Given the description of an element on the screen output the (x, y) to click on. 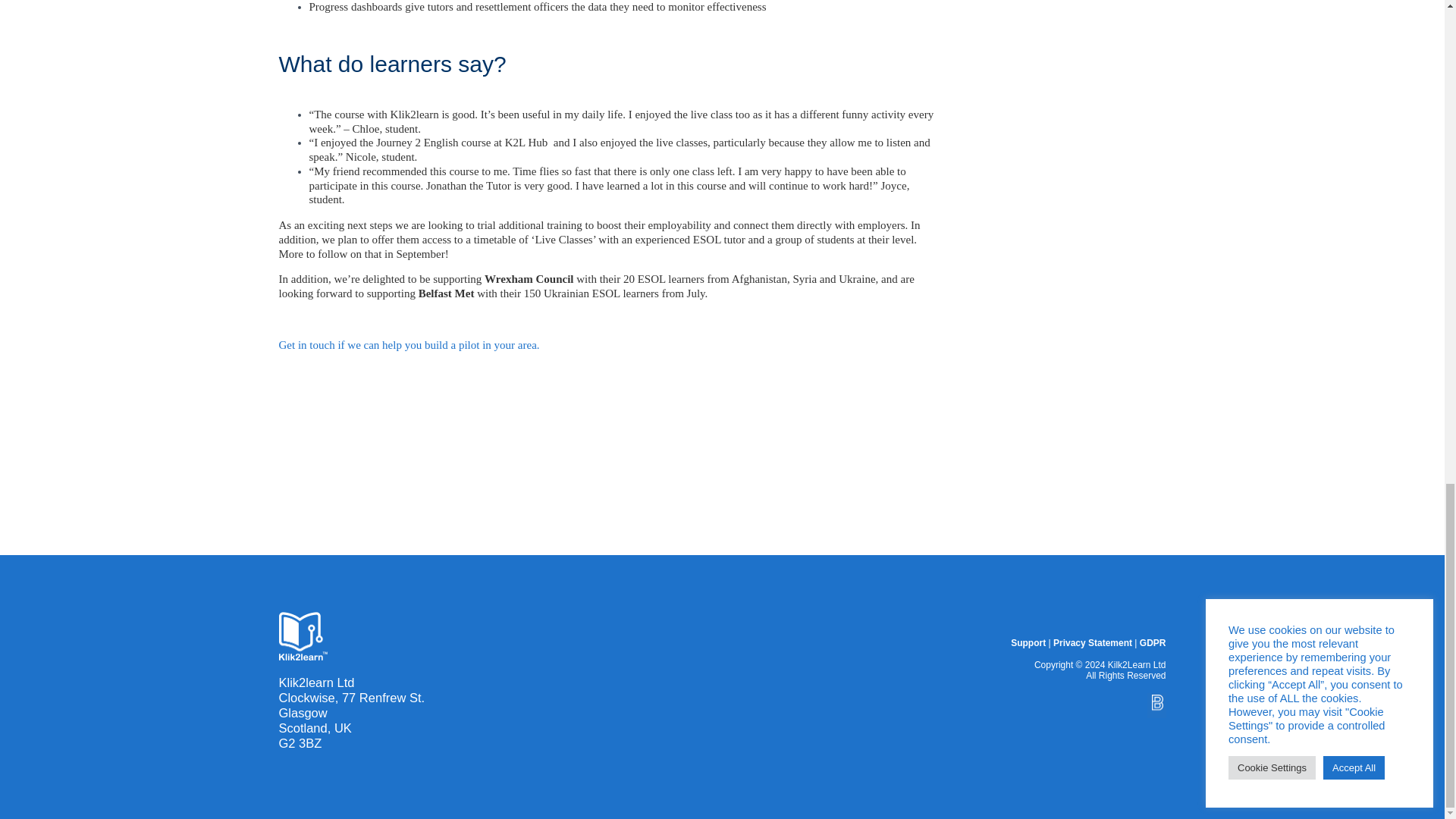
Get in touch if we can help you build a pilot in your area. (409, 345)
